Given the description of an element on the screen output the (x, y) to click on. 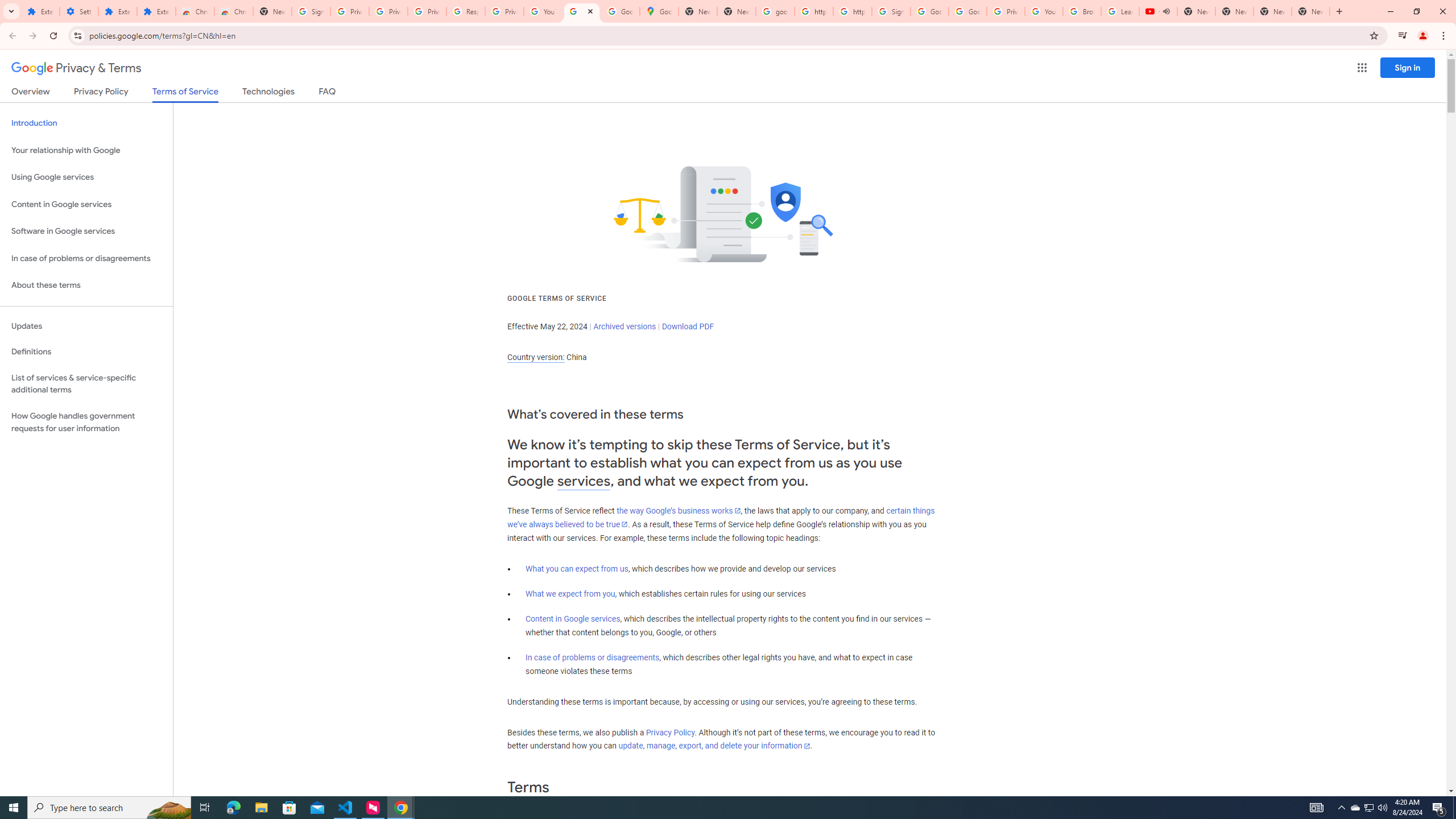
https://scholar.google.com/ (852, 11)
Using Google services (86, 176)
About these terms (86, 284)
How Google handles government requests for user information (86, 422)
Sign in - Google Accounts (890, 11)
Extensions (117, 11)
